Given the description of an element on the screen output the (x, y) to click on. 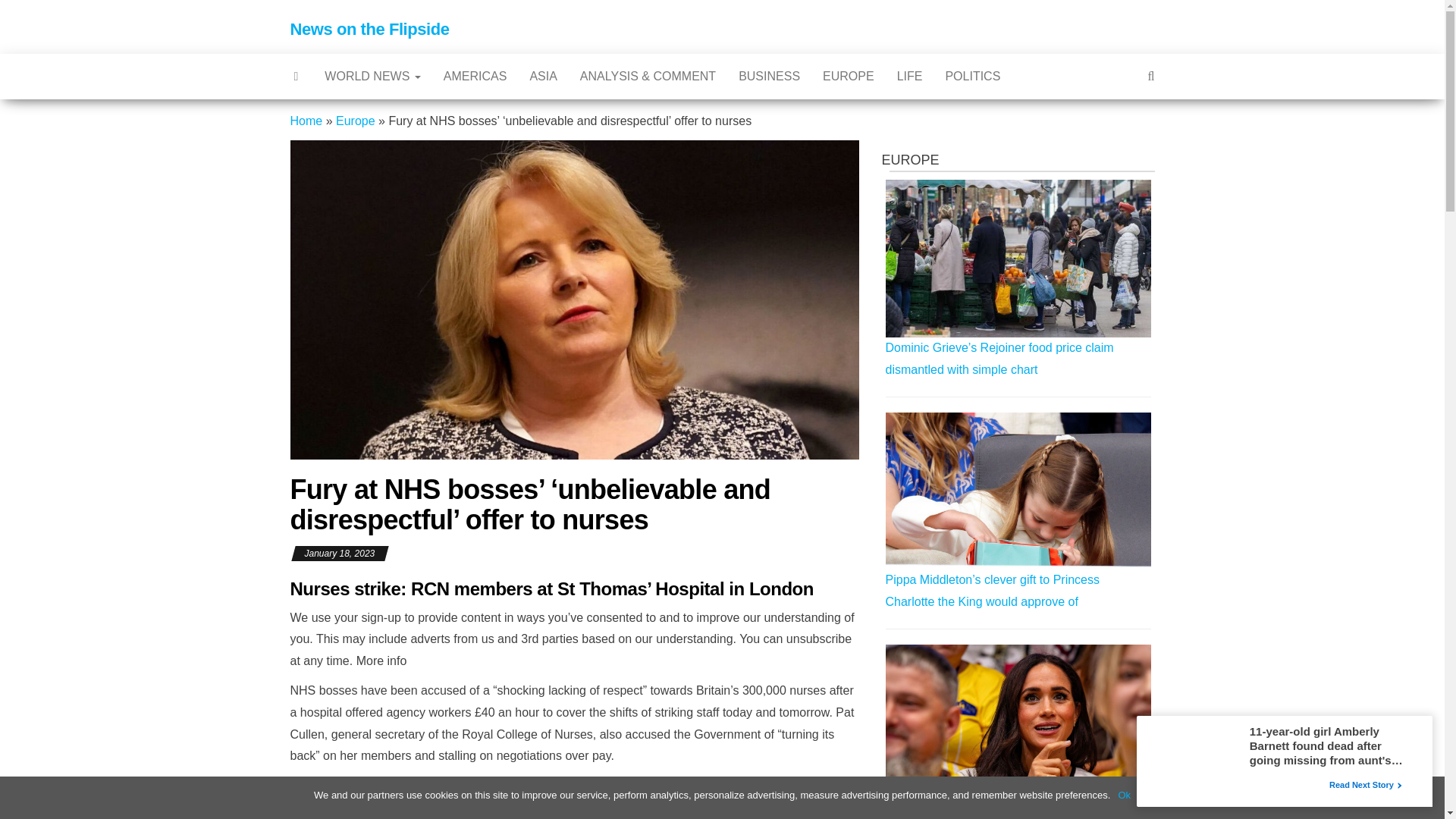
ASIA (542, 76)
Business (768, 76)
Europe (847, 76)
Life (909, 76)
EUROPE (847, 76)
News on the Flipside (368, 28)
Politics (972, 76)
Americas (475, 76)
LIFE (909, 76)
BUSINESS (768, 76)
Home (305, 120)
AMERICAS (475, 76)
WORLD NEWS (371, 76)
POLITICS (972, 76)
World News (371, 76)
